Given the description of an element on the screen output the (x, y) to click on. 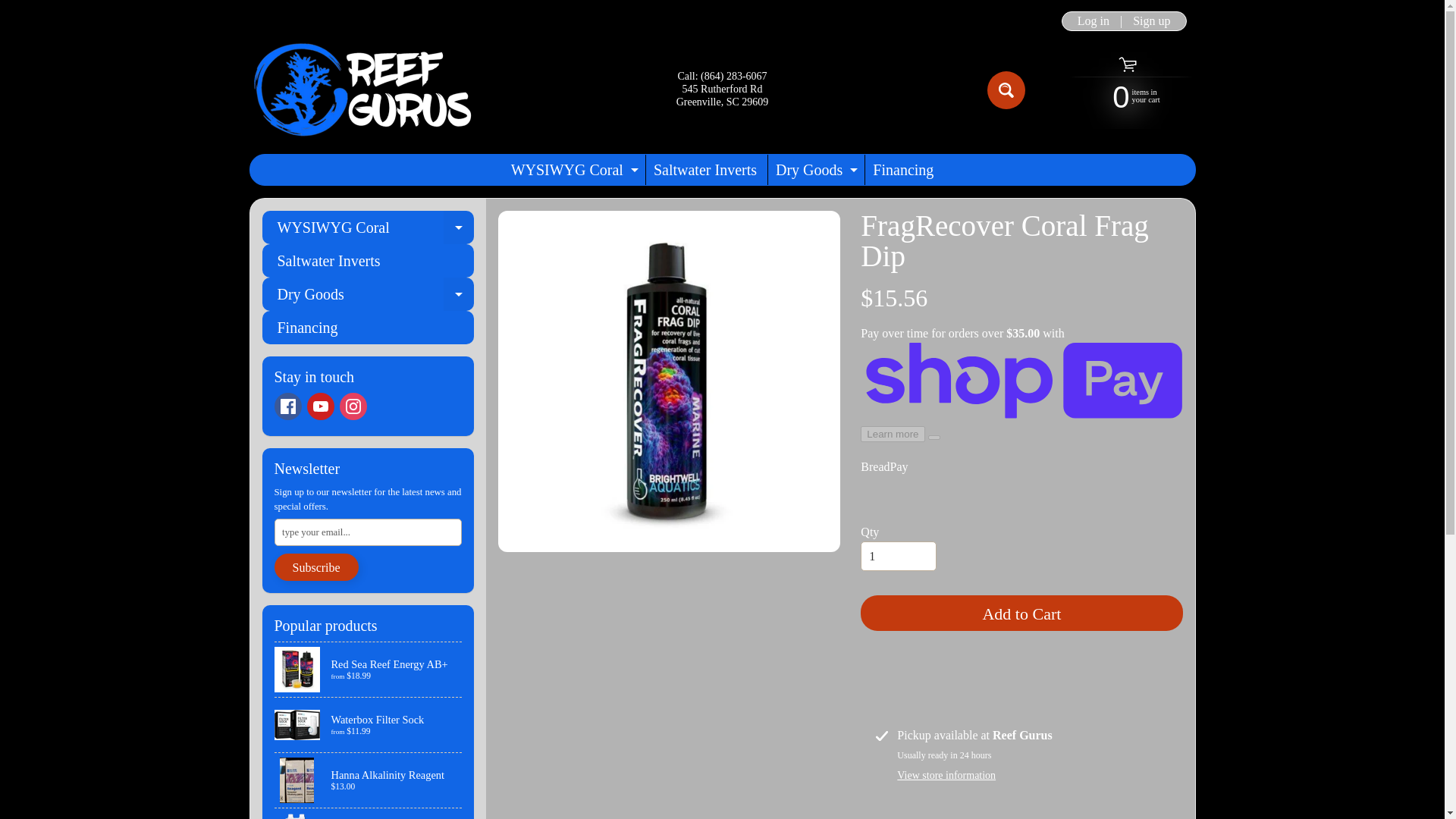
1 (898, 556)
Youtube (319, 406)
Waterbox Filter Sock (369, 724)
Sign up (572, 169)
All For Reef (1151, 21)
Search (369, 813)
Log in (1006, 89)
Hanna Alkalinity Reagent (1093, 21)
